Given the description of an element on the screen output the (x, y) to click on. 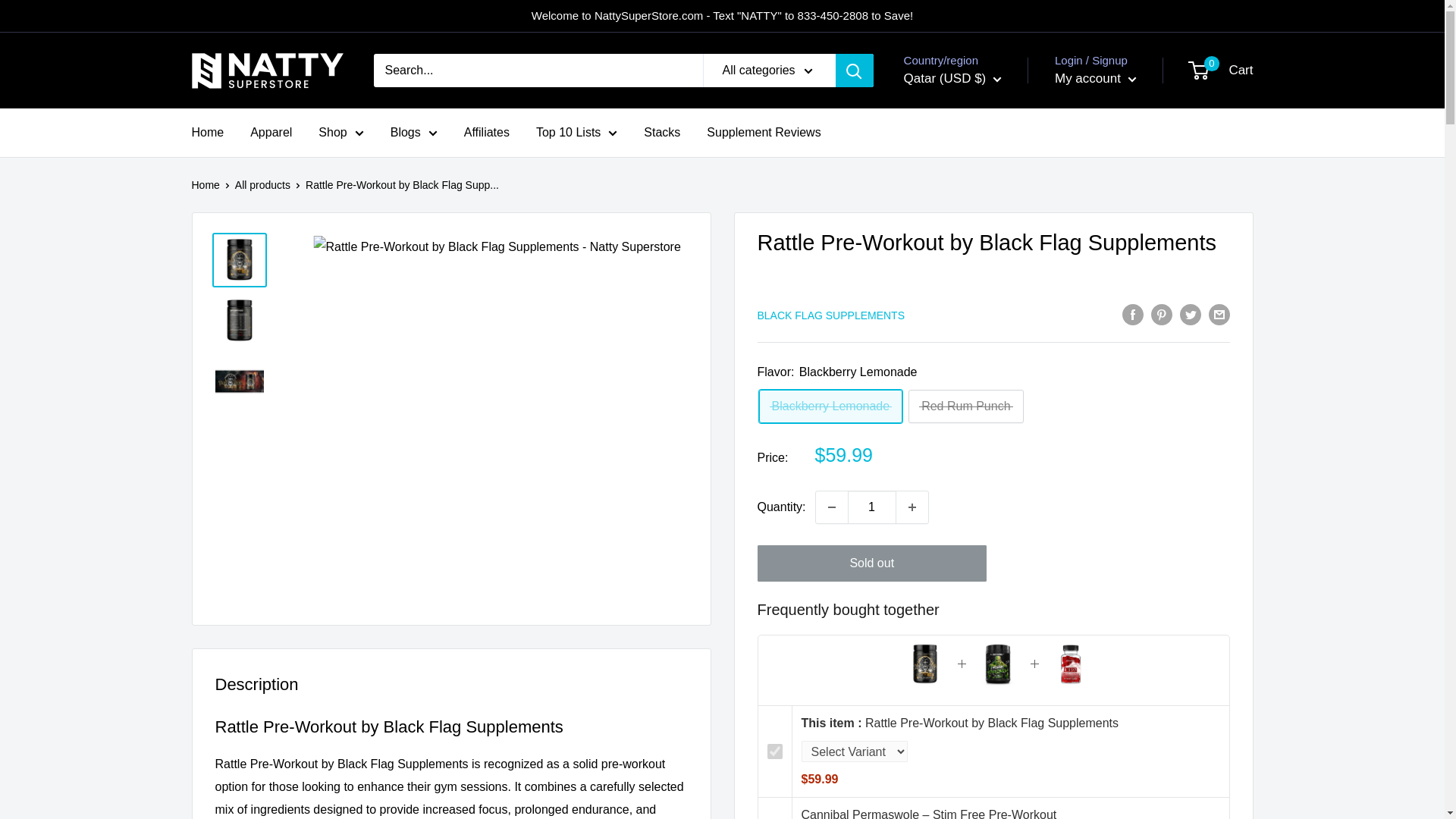
Blackberry Lemonade (830, 406)
Decrease quantity by 1 (831, 507)
on (775, 751)
Increase quantity by 1 (912, 507)
1 (871, 507)
Red Rum Punch (965, 406)
